Given the description of an element on the screen output the (x, y) to click on. 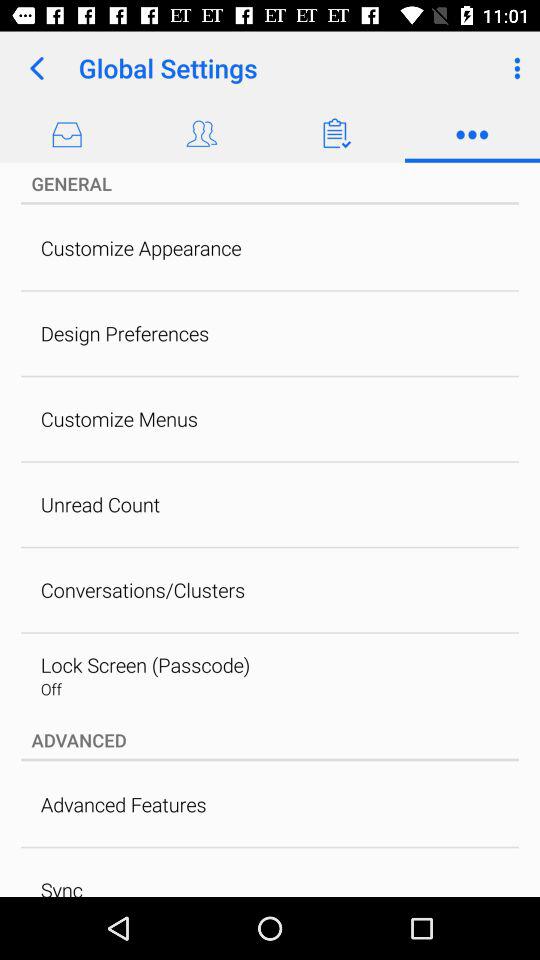
swipe until the off item (50, 688)
